Given the description of an element on the screen output the (x, y) to click on. 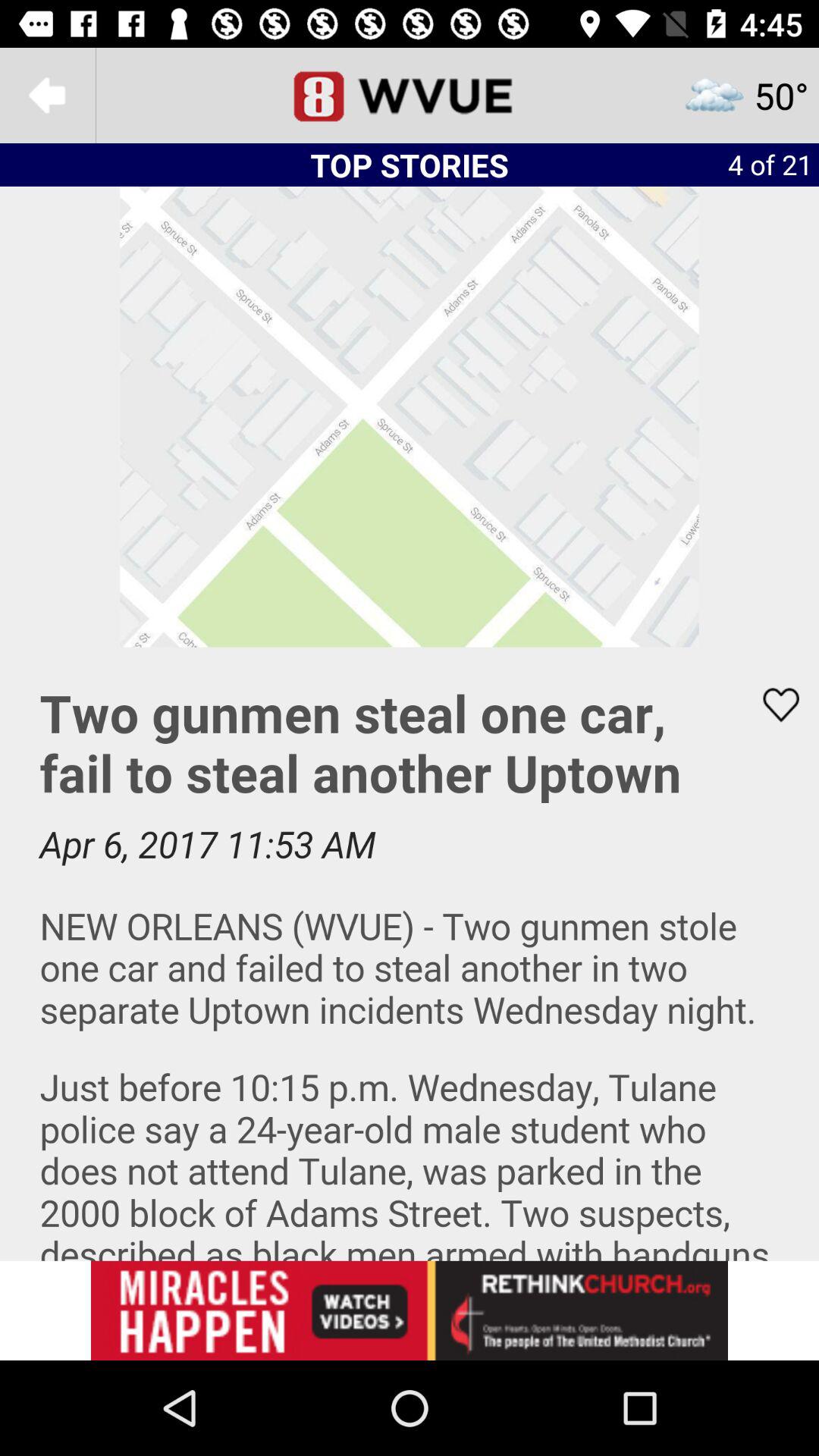
pack page (47, 95)
